Given the description of an element on the screen output the (x, y) to click on. 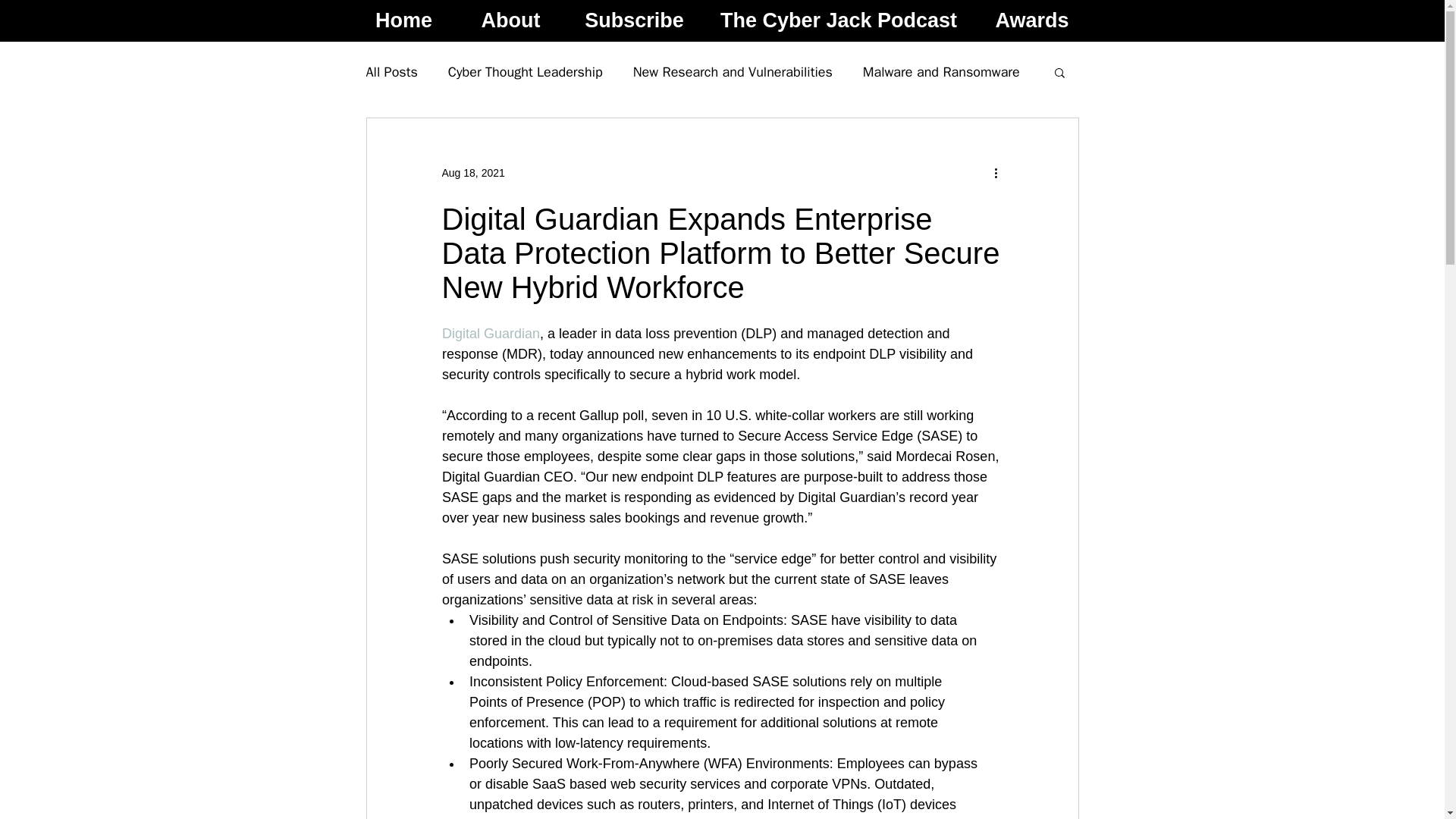
All Posts (390, 72)
About (510, 20)
The Cyber Jack Podcast (837, 20)
Malware and Ransomware (941, 72)
Subscribe (633, 20)
Cyber Thought Leadership (525, 72)
Home (403, 20)
New Research and Vulnerabilities (732, 72)
Aug 18, 2021 (472, 173)
Digital Guardian (489, 333)
